Given the description of an element on the screen output the (x, y) to click on. 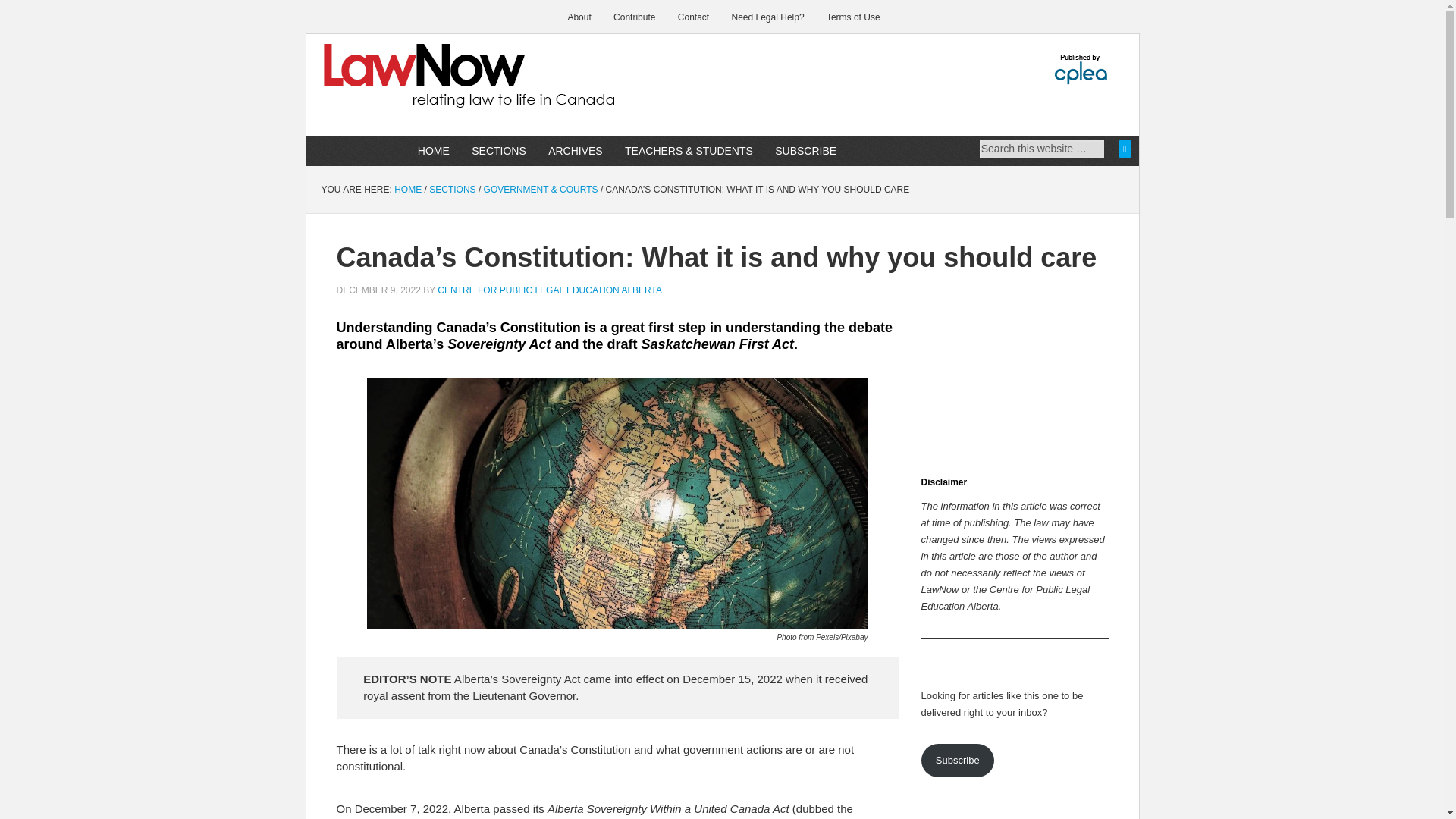
SECTIONS (498, 150)
HOME (408, 189)
Need Legal Help? (767, 16)
About (579, 16)
CENTRE FOR PUBLIC LEGAL EDUCATION ALBERTA (550, 290)
HOME (433, 150)
ARCHIVES (575, 150)
LAWNOW MAGAZINE (435, 86)
Posts by Centre for Public Legal Education Alberta (550, 290)
SECTIONS (452, 189)
